Given the description of an element on the screen output the (x, y) to click on. 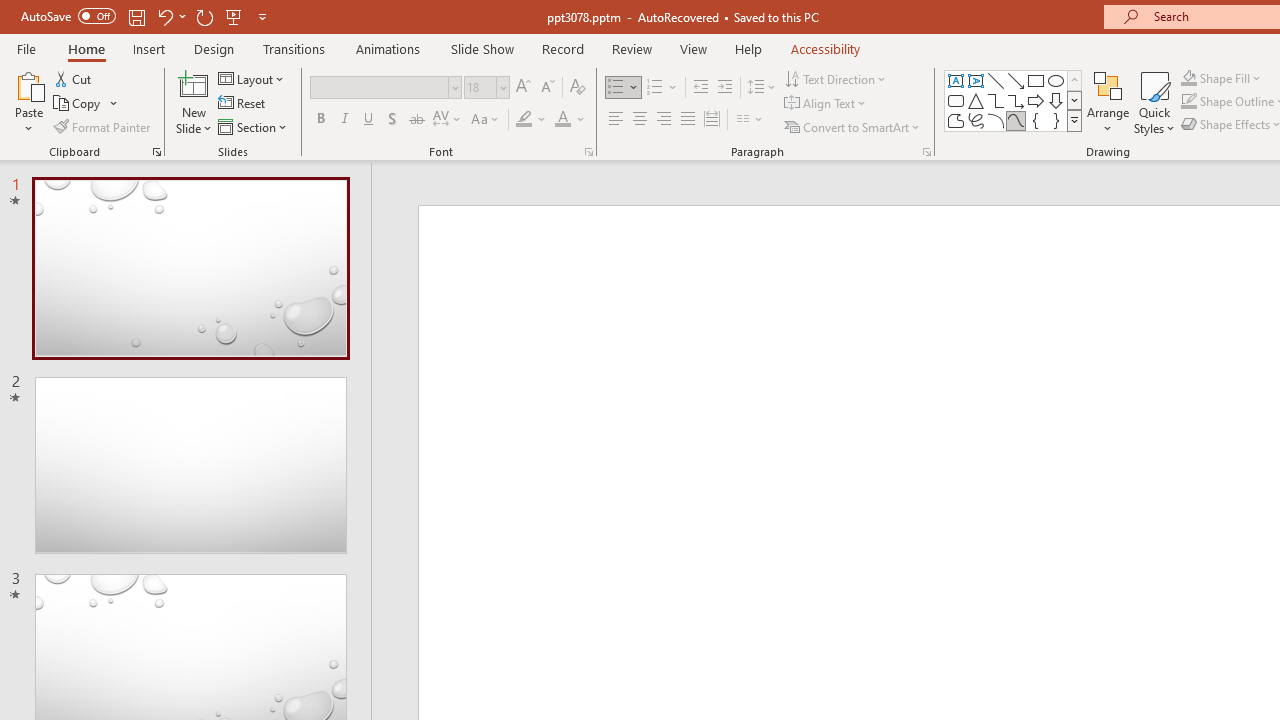
Arrange (1108, 102)
Columns (750, 119)
Arrow: Right (1035, 100)
Shapes (1074, 120)
Center (639, 119)
Isosceles Triangle (975, 100)
Freeform: Shape (955, 120)
